Given the description of an element on the screen output the (x, y) to click on. 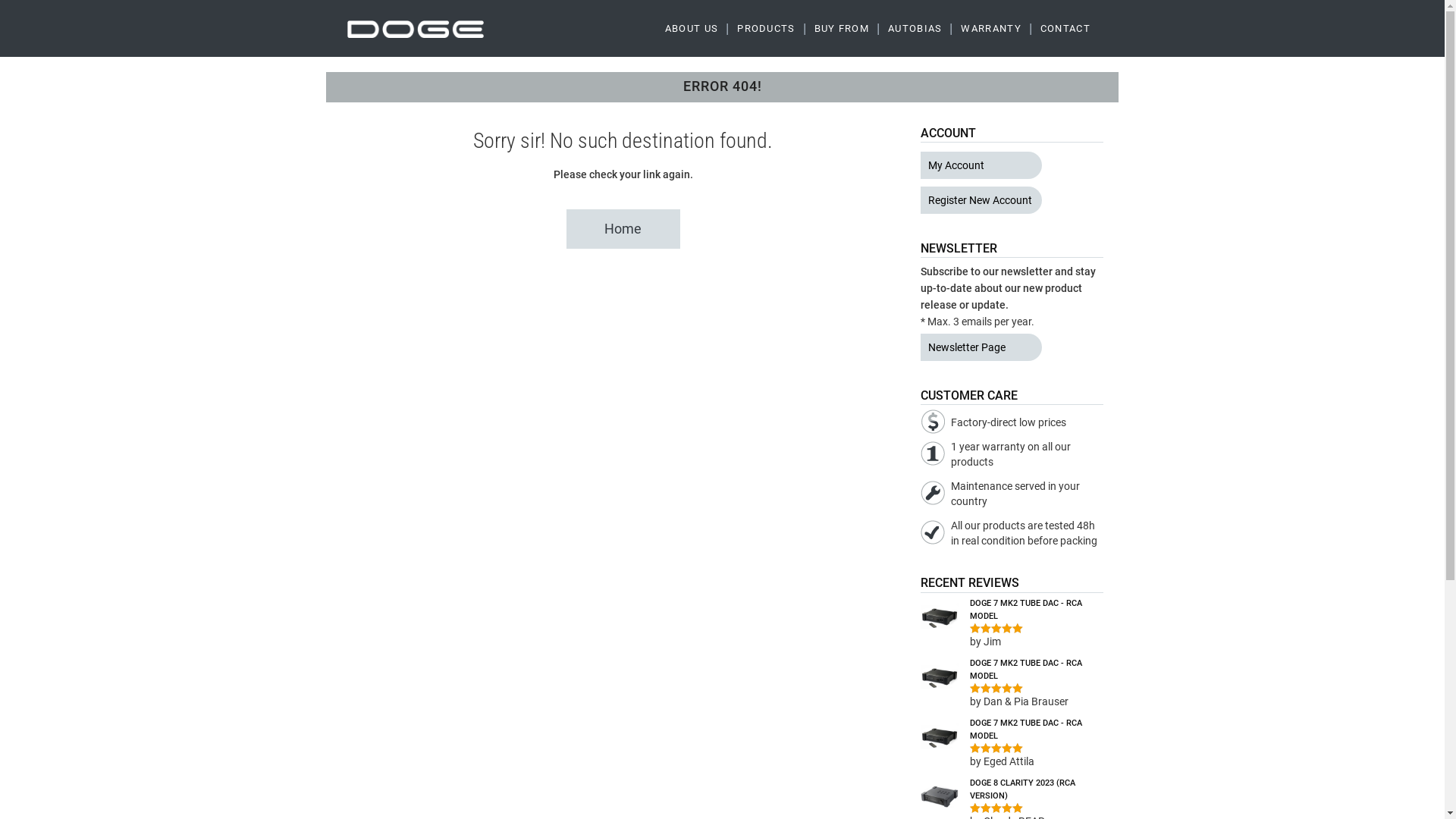
ABOUT US Element type: text (691, 28)
DOGE 8 CLARITY 2023 (RCA VERSION) Element type: text (1011, 789)
BUY FROM Element type: text (841, 28)
PRODUCTS Element type: text (765, 28)
Home Element type: text (623, 228)
DOGE 7 MK2 TUBE DAC - RCA MODEL Element type: text (1011, 609)
DOGE 7 MK2 TUBE DAC - RCA MODEL Element type: text (1011, 669)
WARRANTY Element type: text (990, 28)
Newsletter Page Element type: text (980, 346)
My Account Element type: text (980, 164)
AUTOBIAS Element type: text (914, 28)
CONTACT Element type: text (1065, 28)
DOGE 7 MK2 TUBE DAC - RCA MODEL Element type: text (1011, 729)
Register New Account Element type: text (980, 199)
